Given the description of an element on the screen output the (x, y) to click on. 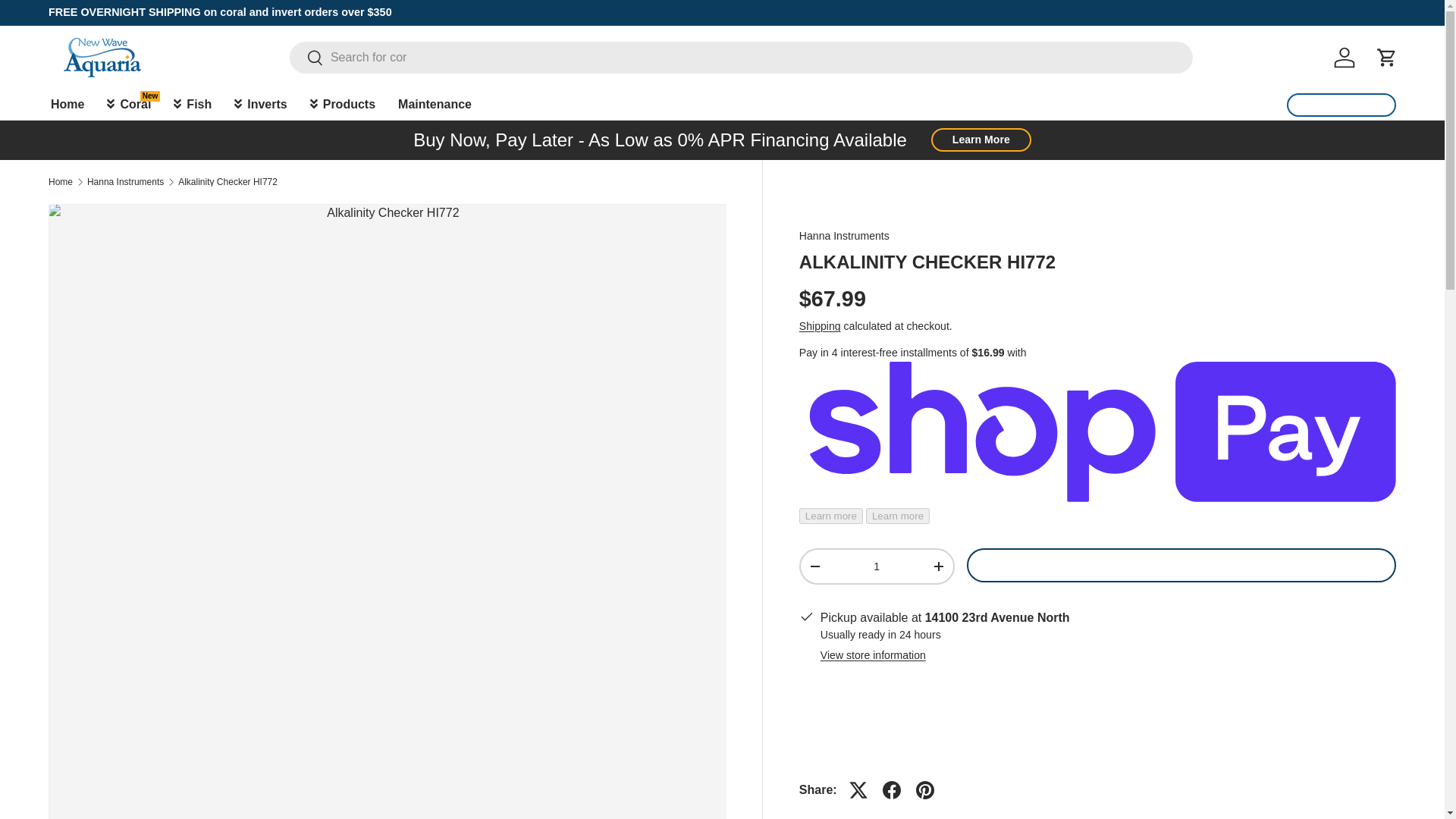
1 (876, 566)
Tweet on X (858, 789)
Pin on Pinterest (925, 789)
Maintenance (435, 103)
Cart (1386, 57)
Search (306, 58)
Log in (1344, 57)
Products (342, 103)
Share on Facebook (891, 789)
Inverts (260, 103)
Home (67, 103)
Coral (128, 103)
Fish (191, 103)
Skip to content (69, 21)
